Given the description of an element on the screen output the (x, y) to click on. 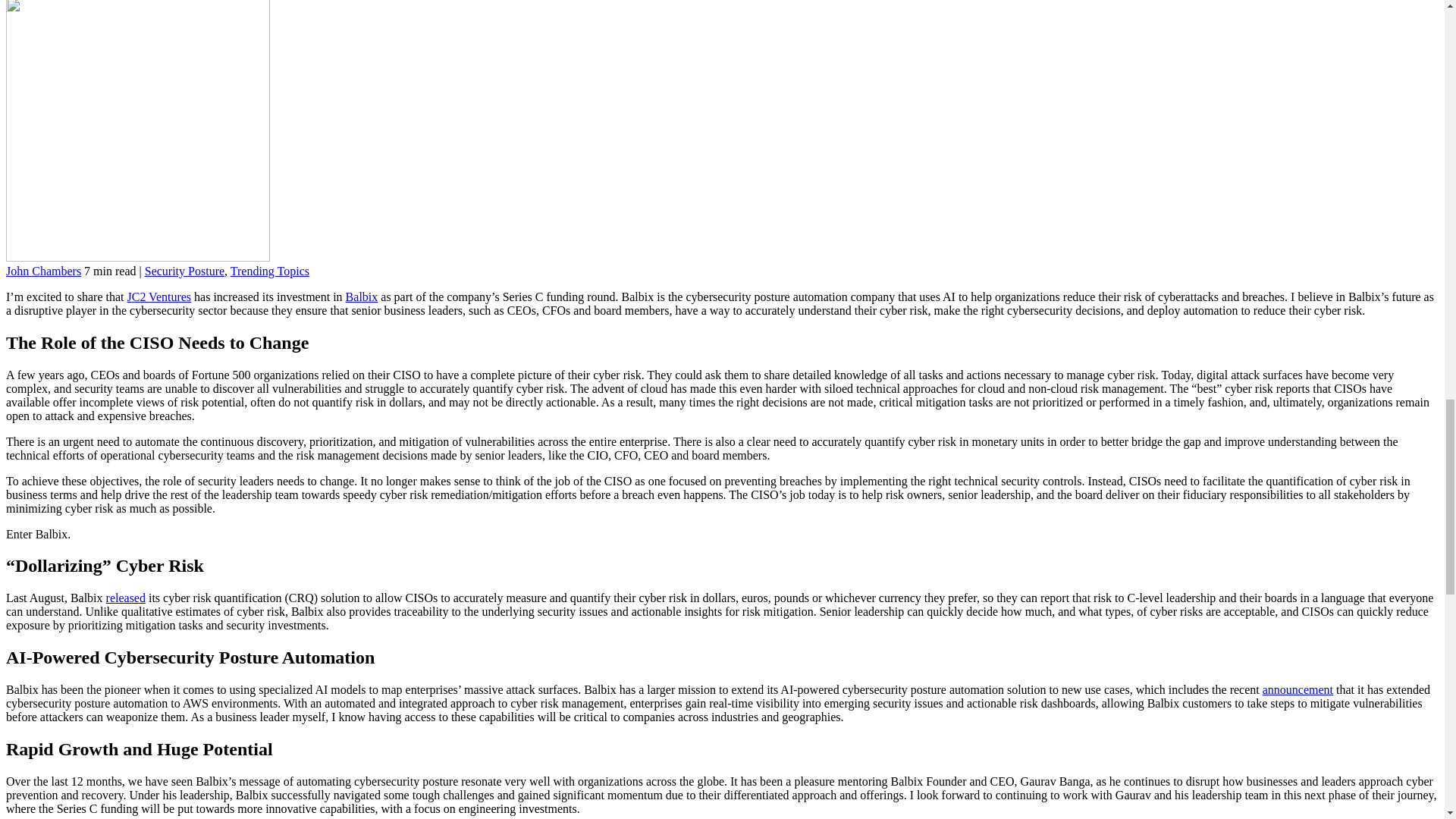
John Chambers (43, 270)
